Given the description of an element on the screen output the (x, y) to click on. 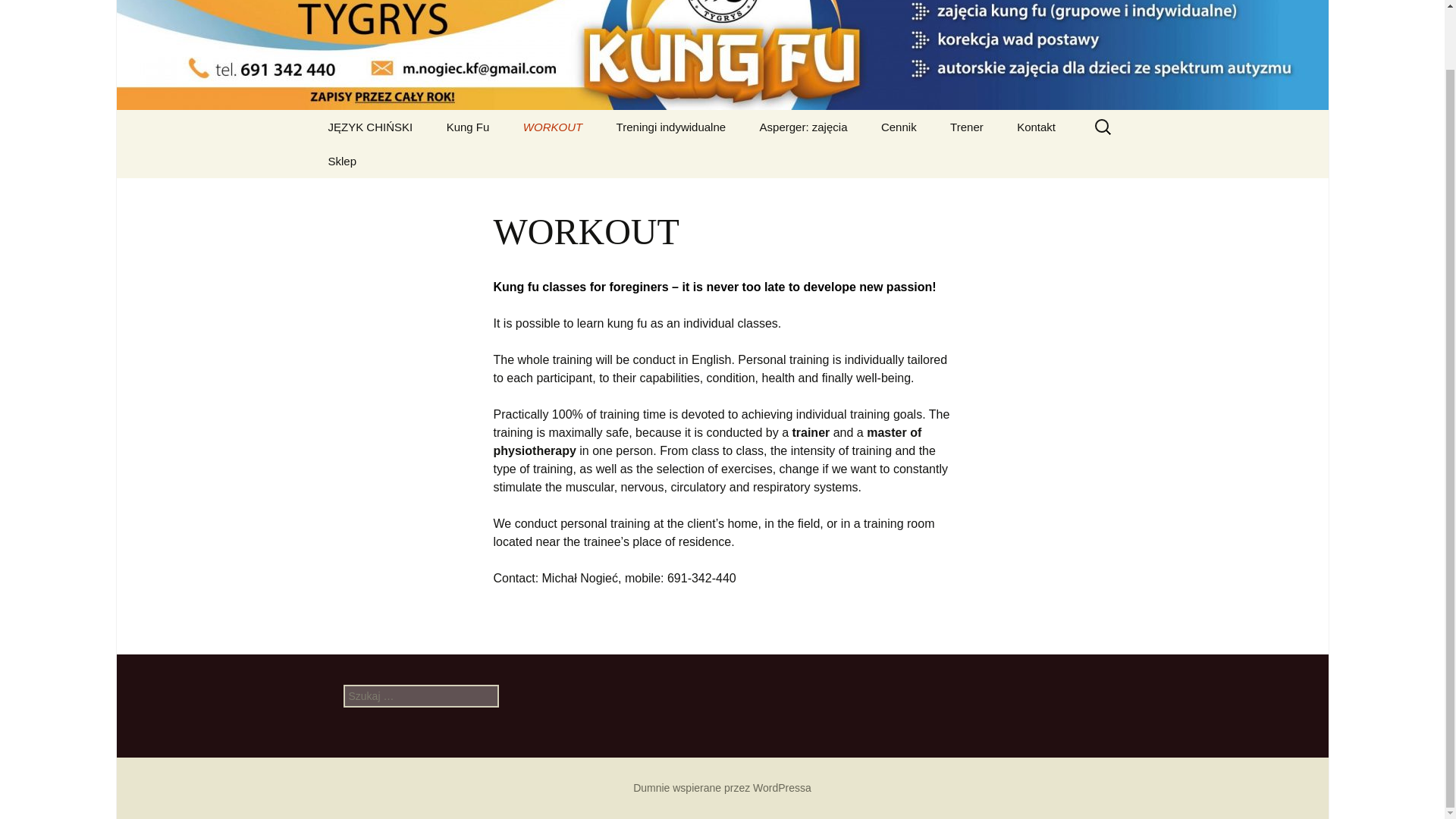
Treningi indywidualne (671, 126)
Sklep (342, 161)
Dumnie wspierane przez WordPressa (721, 787)
Sklep (388, 195)
Cennik (898, 126)
WORKOUT (552, 126)
Semantyczna, osobista platforma publikacyjna (721, 787)
Kontakt (1035, 126)
Trener (966, 126)
Kung Fu (467, 126)
